Given the description of an element on the screen output the (x, y) to click on. 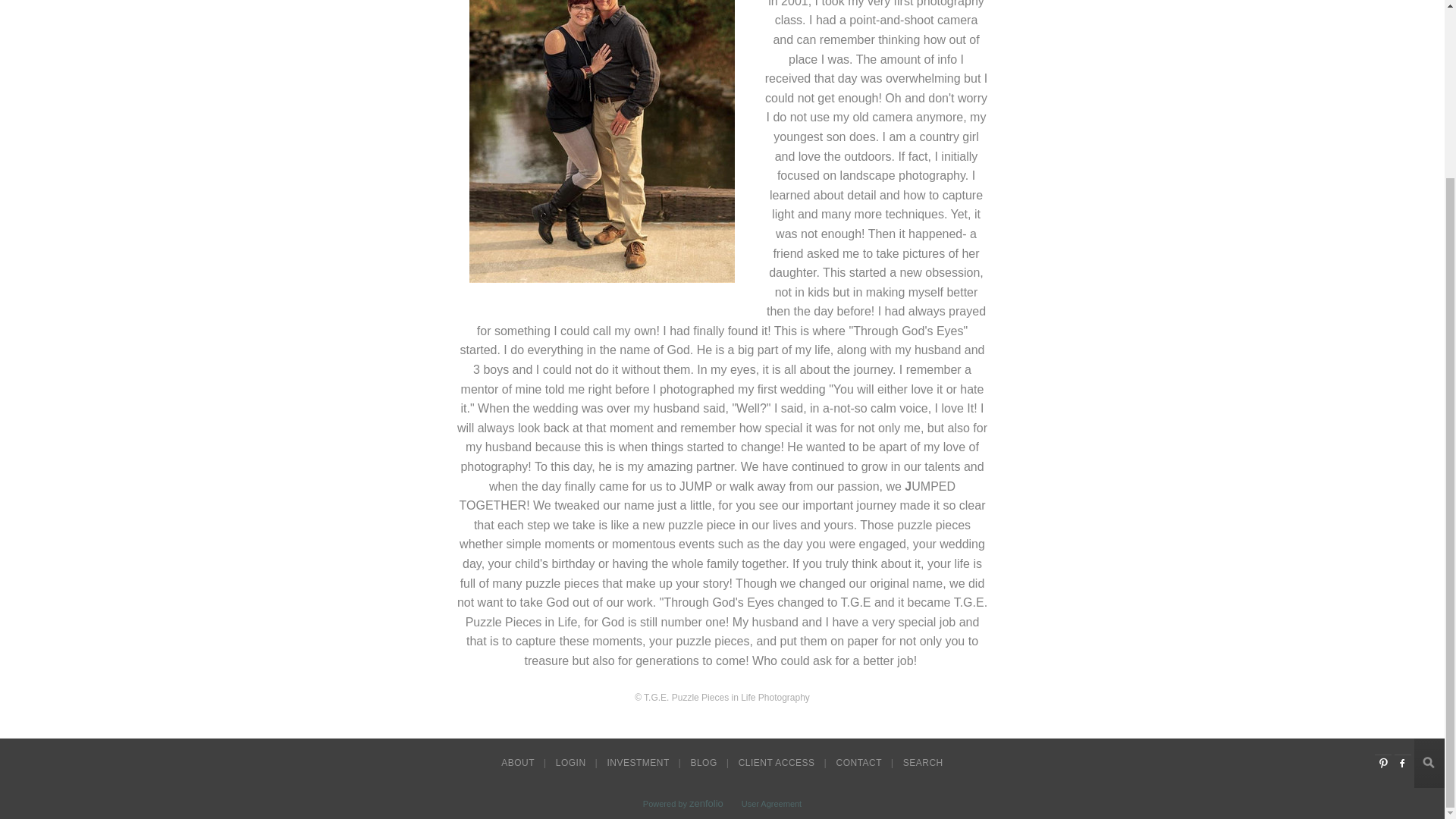
BLOG (704, 762)
CLIENT ACCESS (778, 762)
CONTACT (859, 762)
INVESTMENT (638, 762)
ABOUT (519, 762)
SEARCH (922, 762)
LOGIN (572, 762)
